Given the description of an element on the screen output the (x, y) to click on. 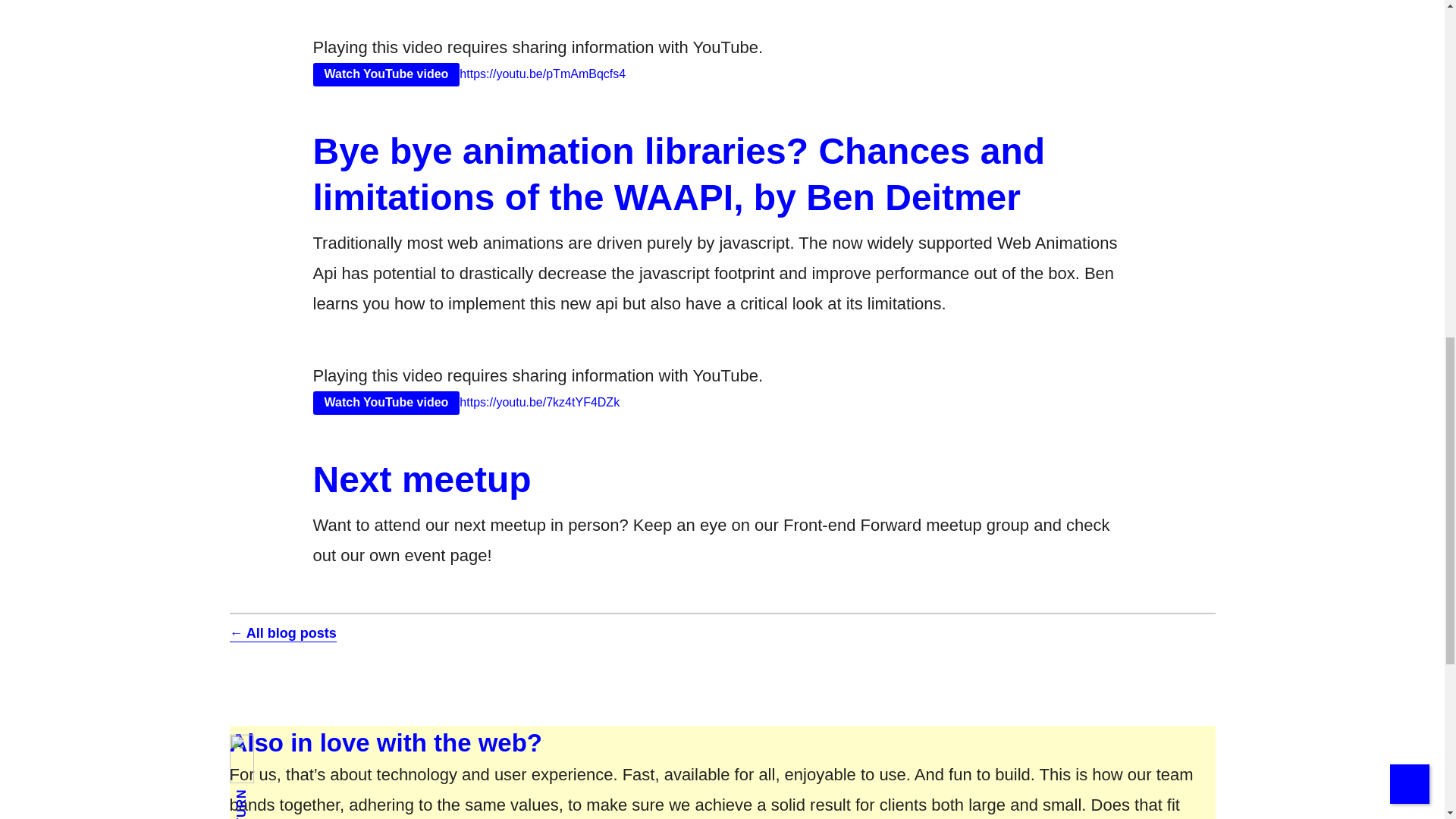
Front-end Forward meetup group (906, 524)
RETURN (255, 800)
Watch YouTube video (721, 774)
event page (386, 402)
Watch YouTube video (445, 555)
